Given the description of an element on the screen output the (x, y) to click on. 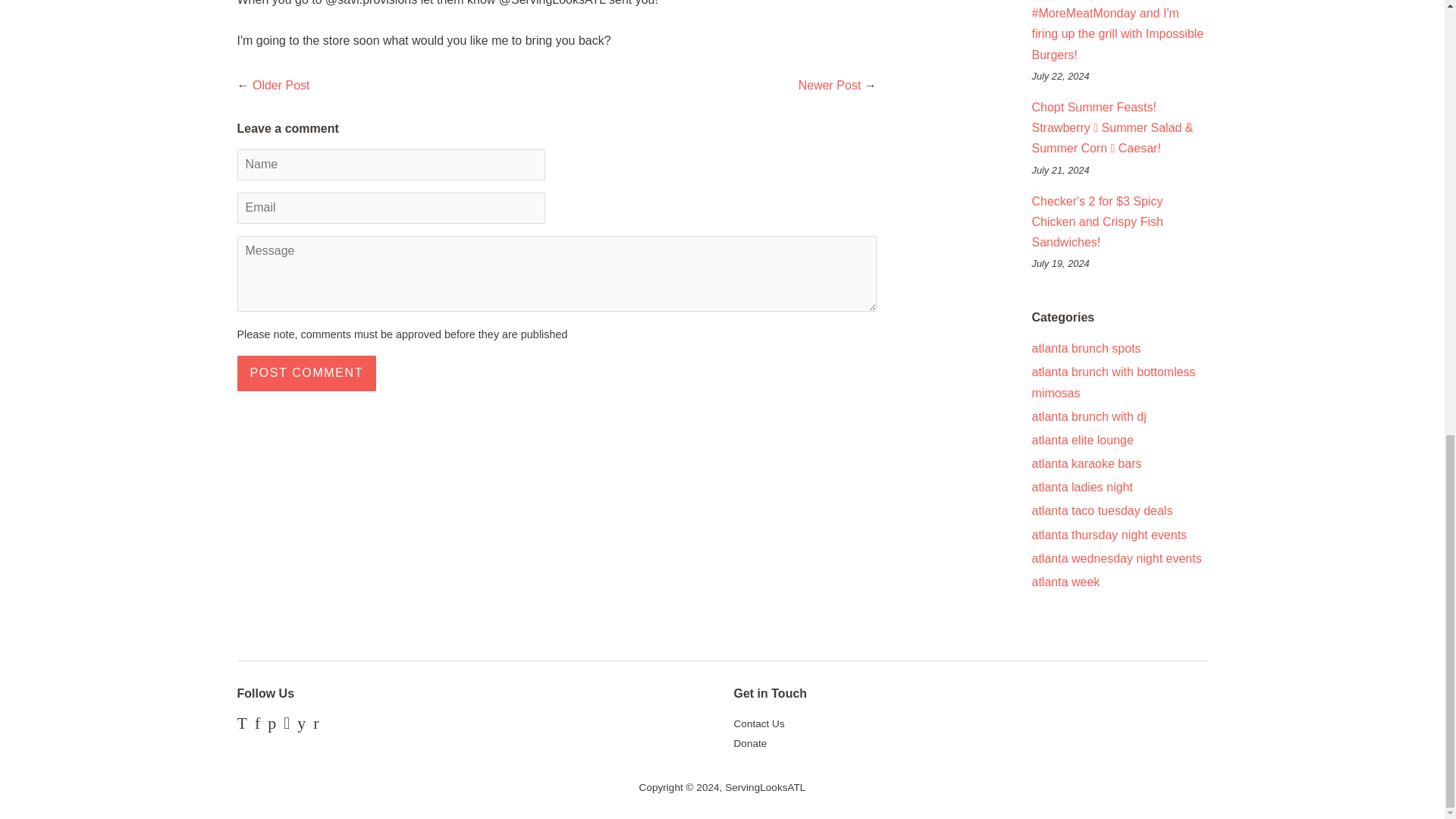
Show articles tagged atlanta brunch with bottomless mimosas (1112, 381)
Newer Post (829, 84)
Show articles tagged atlanta week (1064, 581)
Show articles tagged atlanta taco tuesday deals (1101, 510)
Show articles tagged atlanta thursday night events (1108, 534)
Older Post (280, 84)
Post comment (305, 373)
Show articles tagged atlanta wednesday night events (1115, 558)
Show articles tagged atlanta ladies night (1081, 486)
Show articles tagged atlanta karaoke bars (1085, 463)
